Given the description of an element on the screen output the (x, y) to click on. 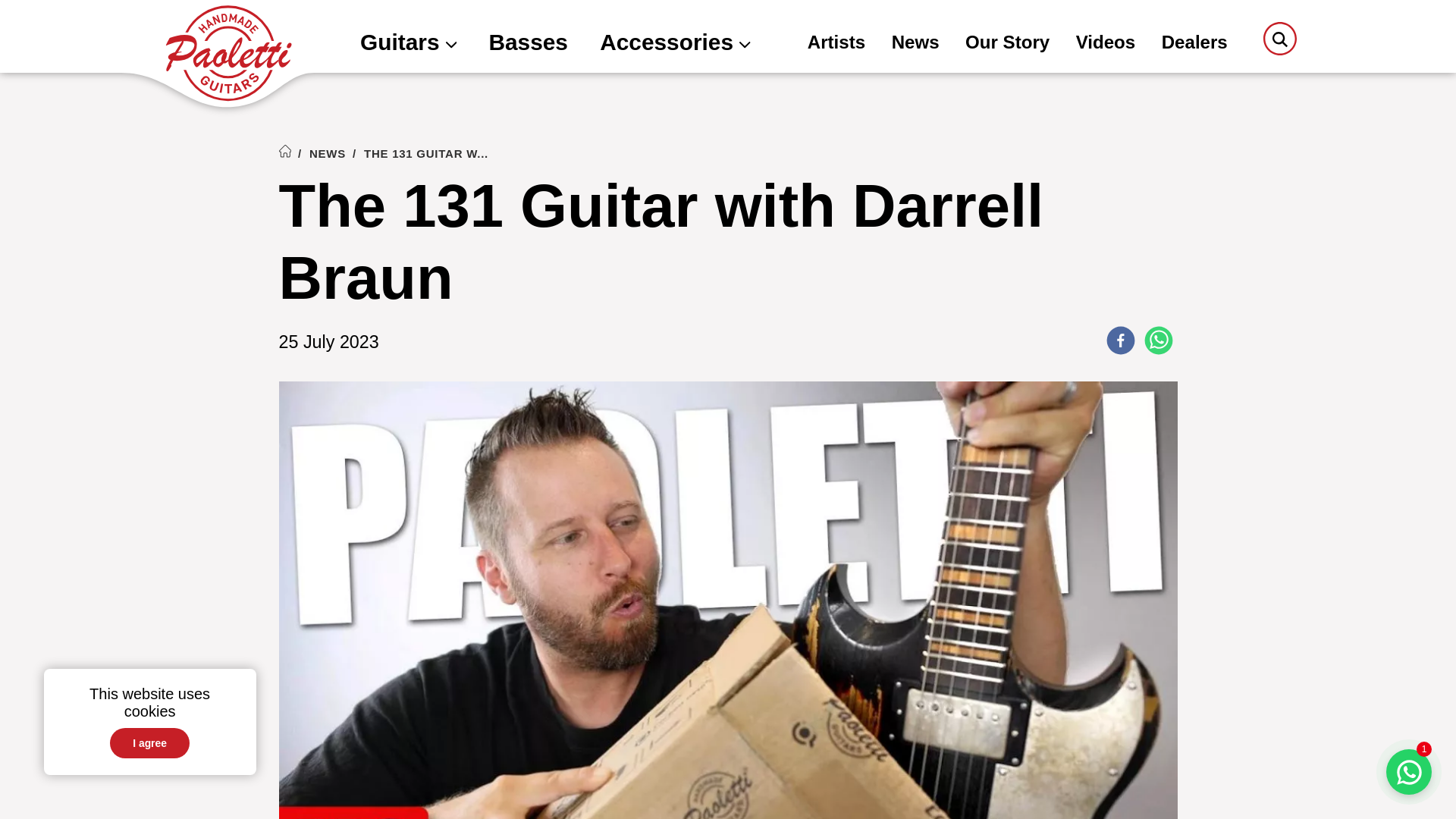
Our Story (1007, 43)
Dealers (1194, 43)
Basses (527, 43)
Guitars (408, 43)
NEWS (327, 153)
Videos (1105, 43)
Artists (836, 43)
News (915, 43)
Accessories (675, 43)
